Given the description of an element on the screen output the (x, y) to click on. 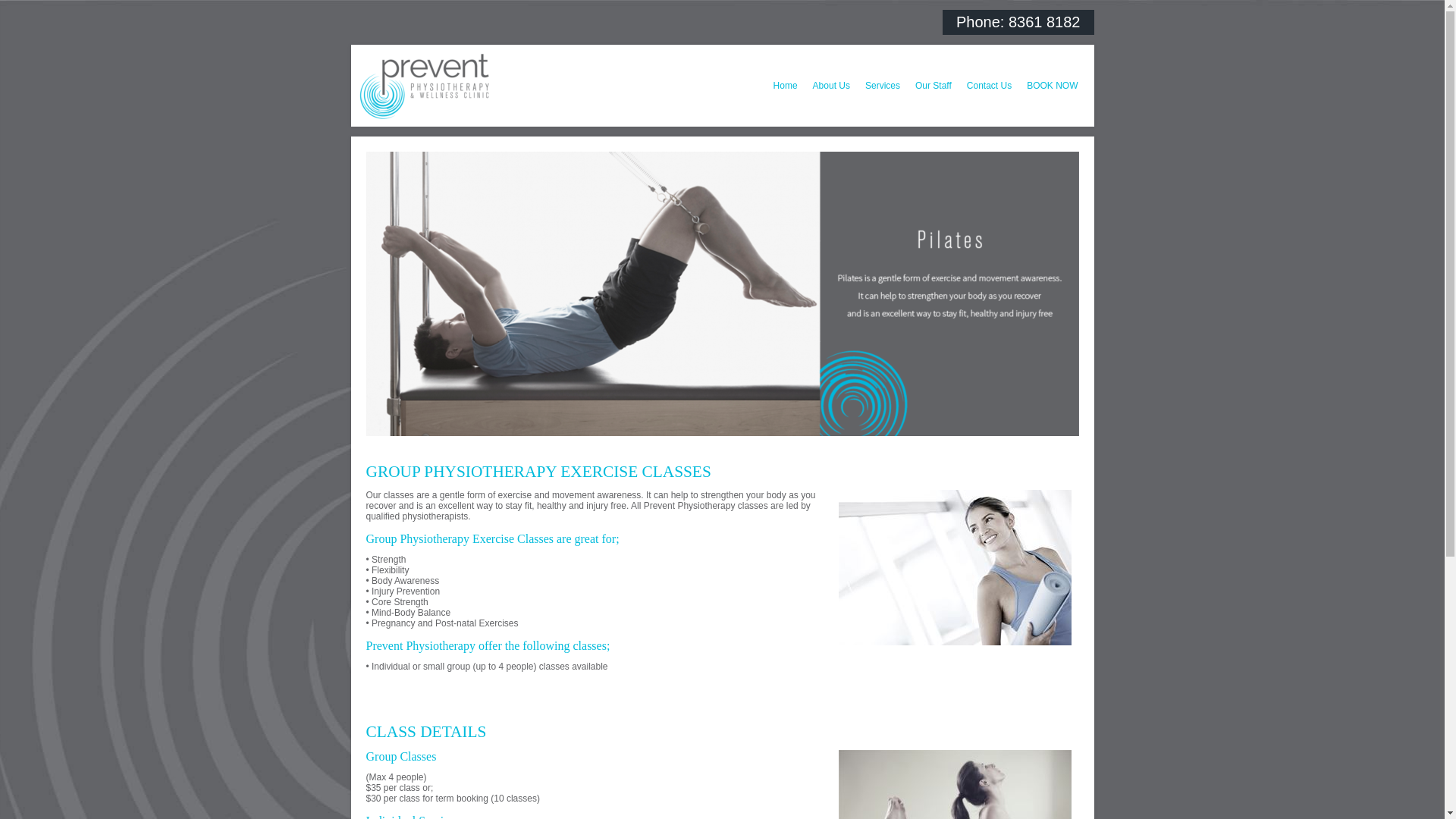
BOOK NOW Element type: text (1051, 85)
Home Element type: text (785, 85)
Contact Us Element type: text (988, 85)
About Us Element type: text (831, 85)
Our Staff Element type: text (933, 85)
Services Element type: text (882, 85)
